Given the description of an element on the screen output the (x, y) to click on. 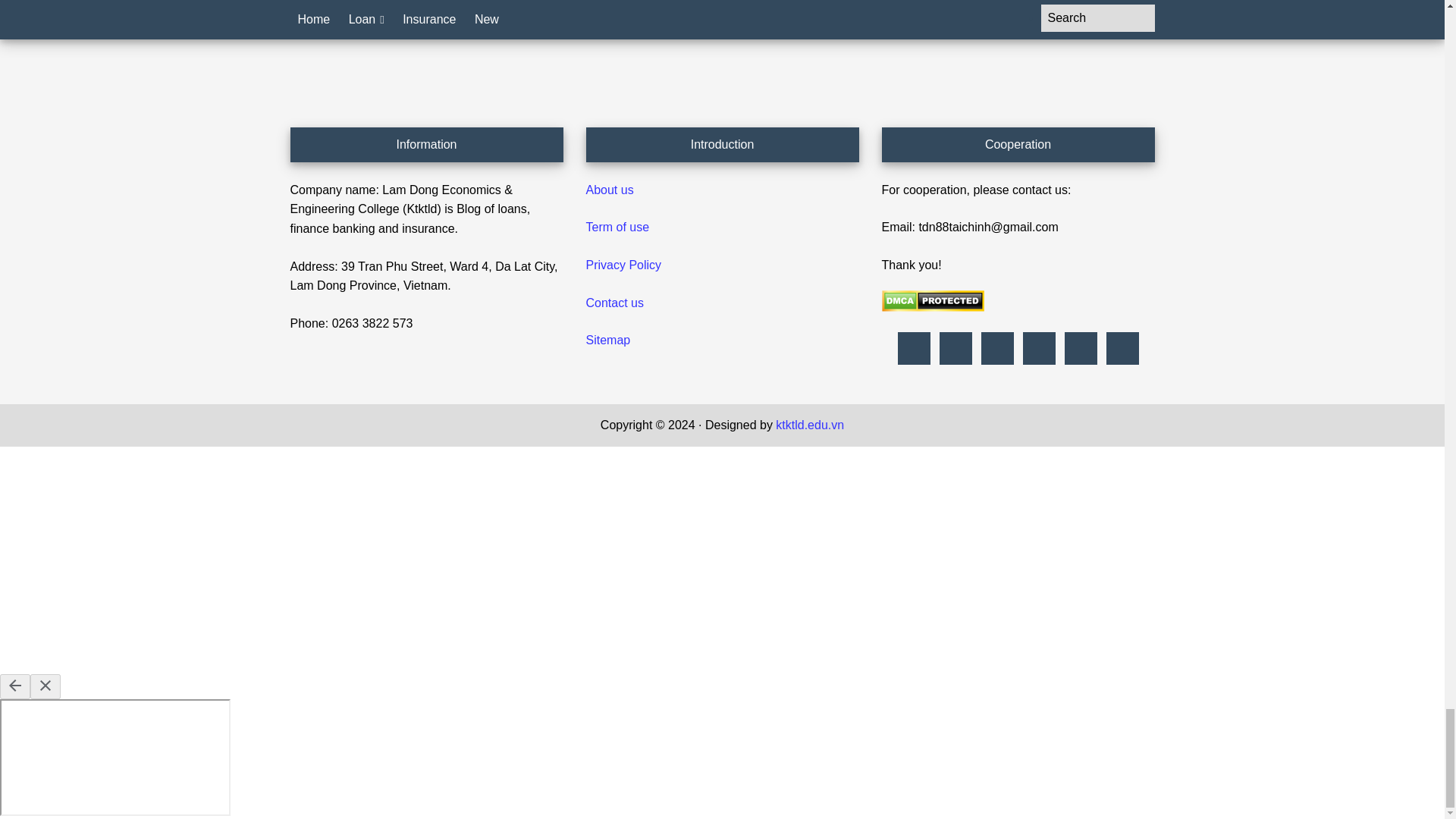
Tumblr (1038, 348)
YouTube (1123, 348)
Twitter (1079, 348)
Flickr (913, 348)
Reddit (996, 348)
Pinterest (955, 348)
DMCA.com Protection Status (932, 307)
